Given the description of an element on the screen output the (x, y) to click on. 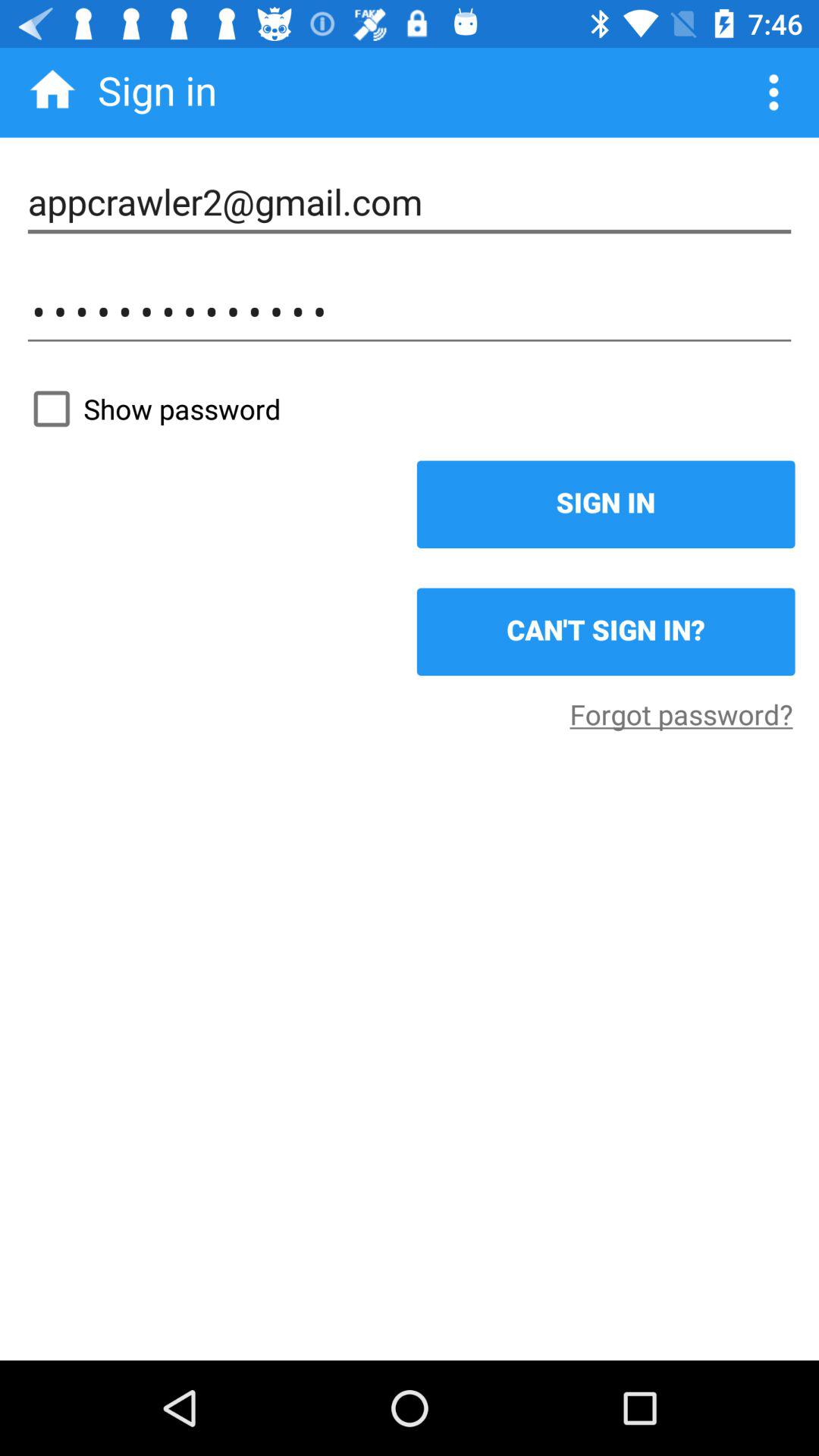
launch the icon below appcrawler2@gmail.com item (409, 312)
